Given the description of an element on the screen output the (x, y) to click on. 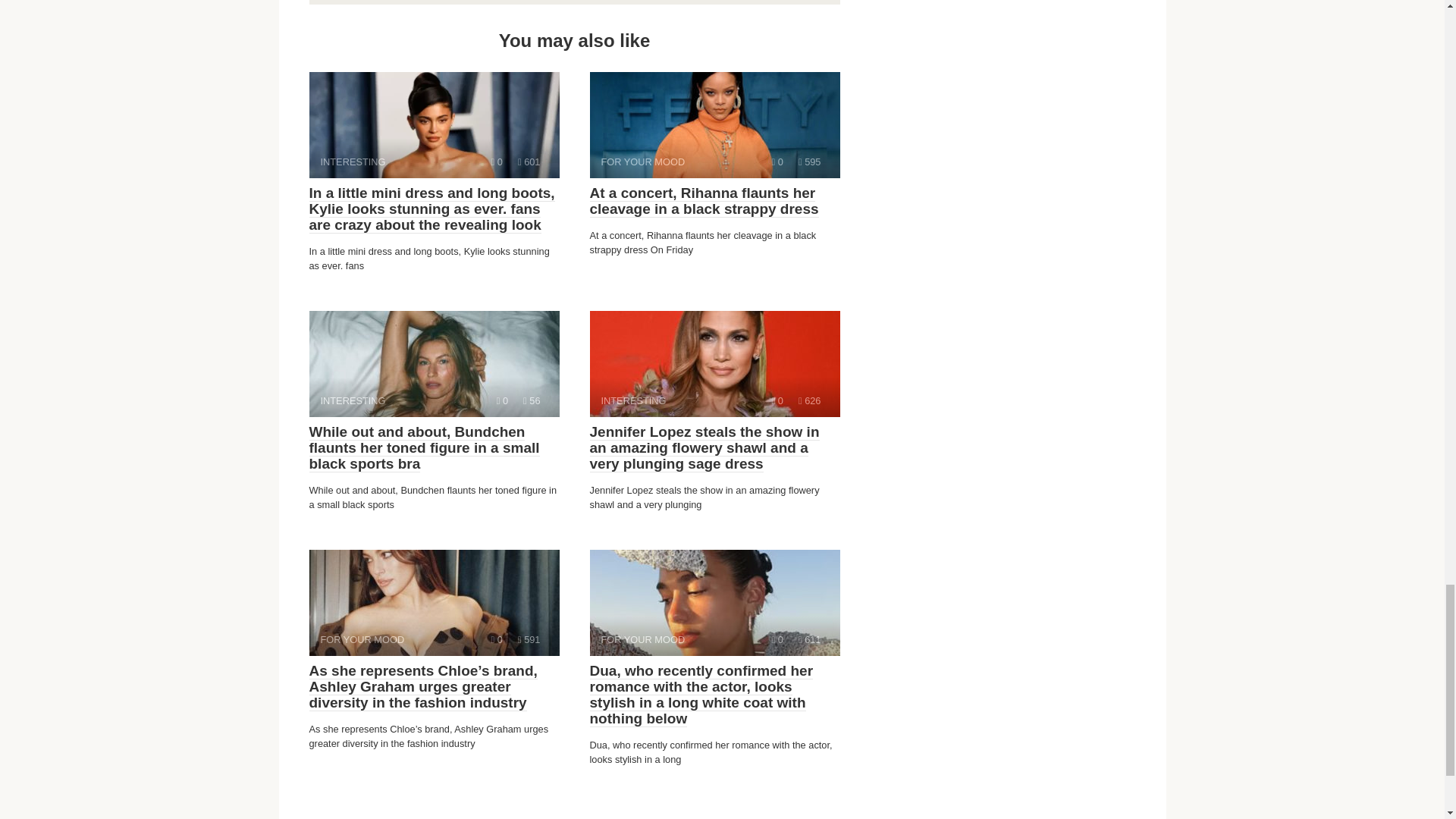
Views (433, 363)
Comments (529, 161)
Comments (497, 639)
Comments (714, 125)
Comments (777, 400)
Comments (777, 639)
